Given the description of an element on the screen output the (x, y) to click on. 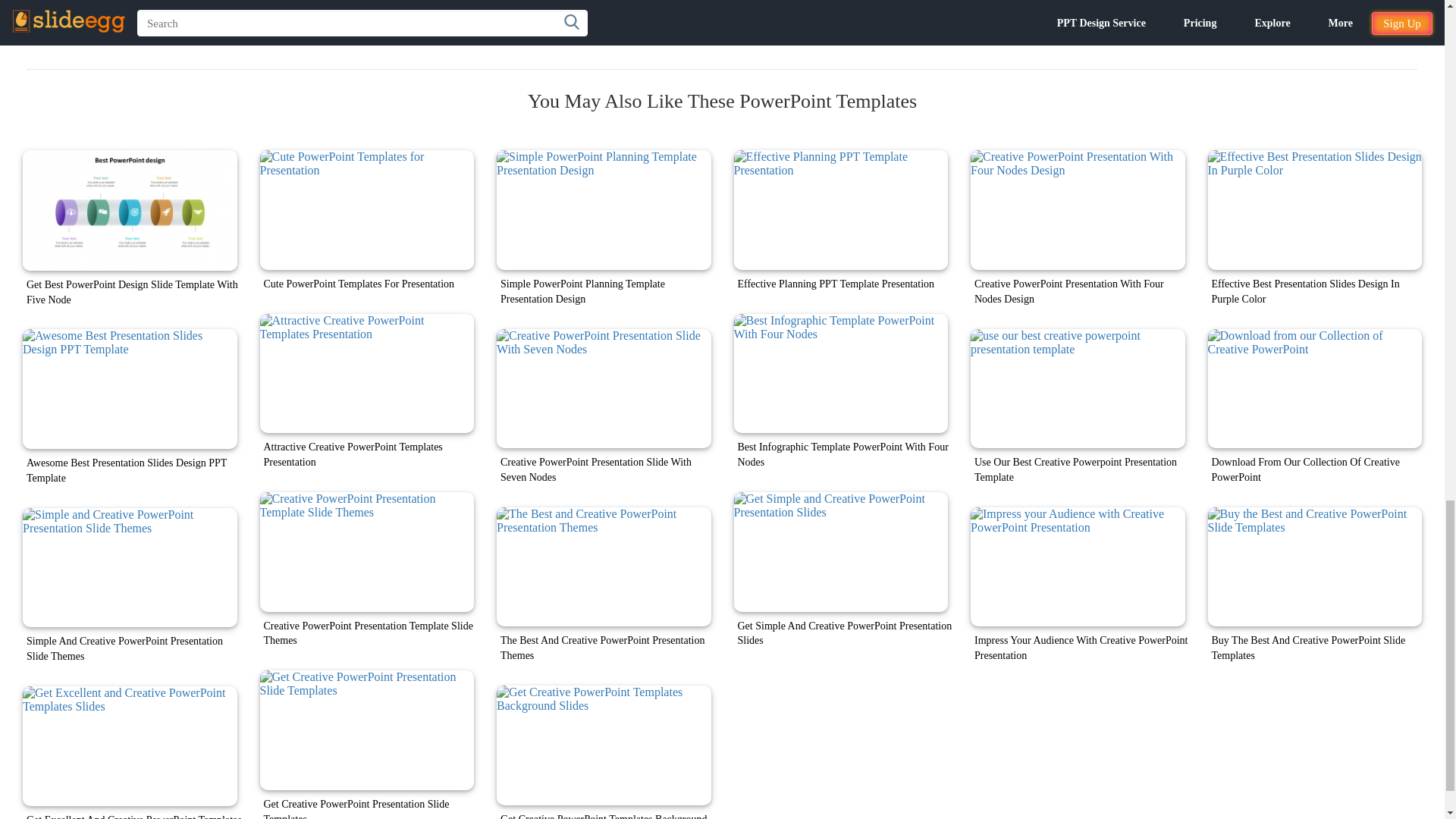
Get Creative PowerPoint Templates Background Slides (603, 745)
The Best and Creative PowerPoint Presentation Themes (603, 566)
Creative PowerPoint Presentation With Four Nodes Design (1078, 209)
Get Simple and Creative PowerPoint Presentation Slides (841, 551)
Impress your Audience with Creative PowerPoint Presentation (1078, 566)
Attractive Creative PowerPoint Templates Presentation (366, 373)
Simple and Creative PowerPoint Presentation Slide Themes (130, 567)
Effective Planning PPT Template Presentation (841, 209)
Get Creative PowerPoint Presentation Slide Templates (366, 730)
Creative PowerPoint Presentation Slide With Seven Nodes (603, 387)
Get Excellent and Creative PowerPoint Templates Slides (130, 745)
Get Best PowerPoint Design Slide Template With Five Node (130, 210)
Cute PowerPoint Templates for Presentation (366, 209)
Best Infographic Template PowerPoint With Four Nodes (841, 373)
Simple PowerPoint Planning Template Presentation Design (603, 209)
